Given the description of an element on the screen output the (x, y) to click on. 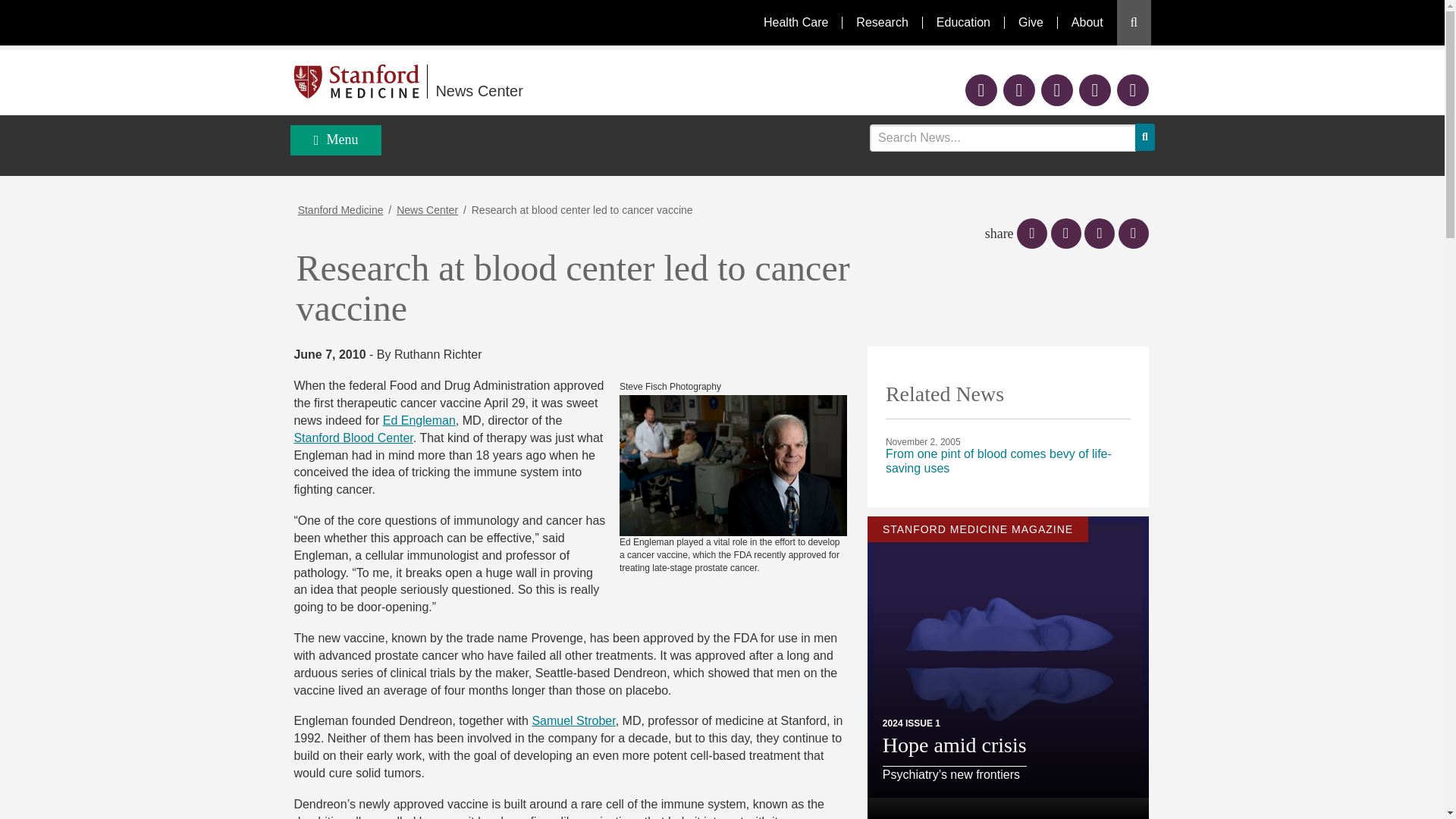
See us on instagram (1132, 91)
See us on facebook (981, 91)
See us on twitter (1019, 91)
News Center (616, 81)
See us on linkedin (1094, 91)
See us on youtube (1057, 91)
Stanford Medicine (361, 81)
